Given the description of an element on the screen output the (x, y) to click on. 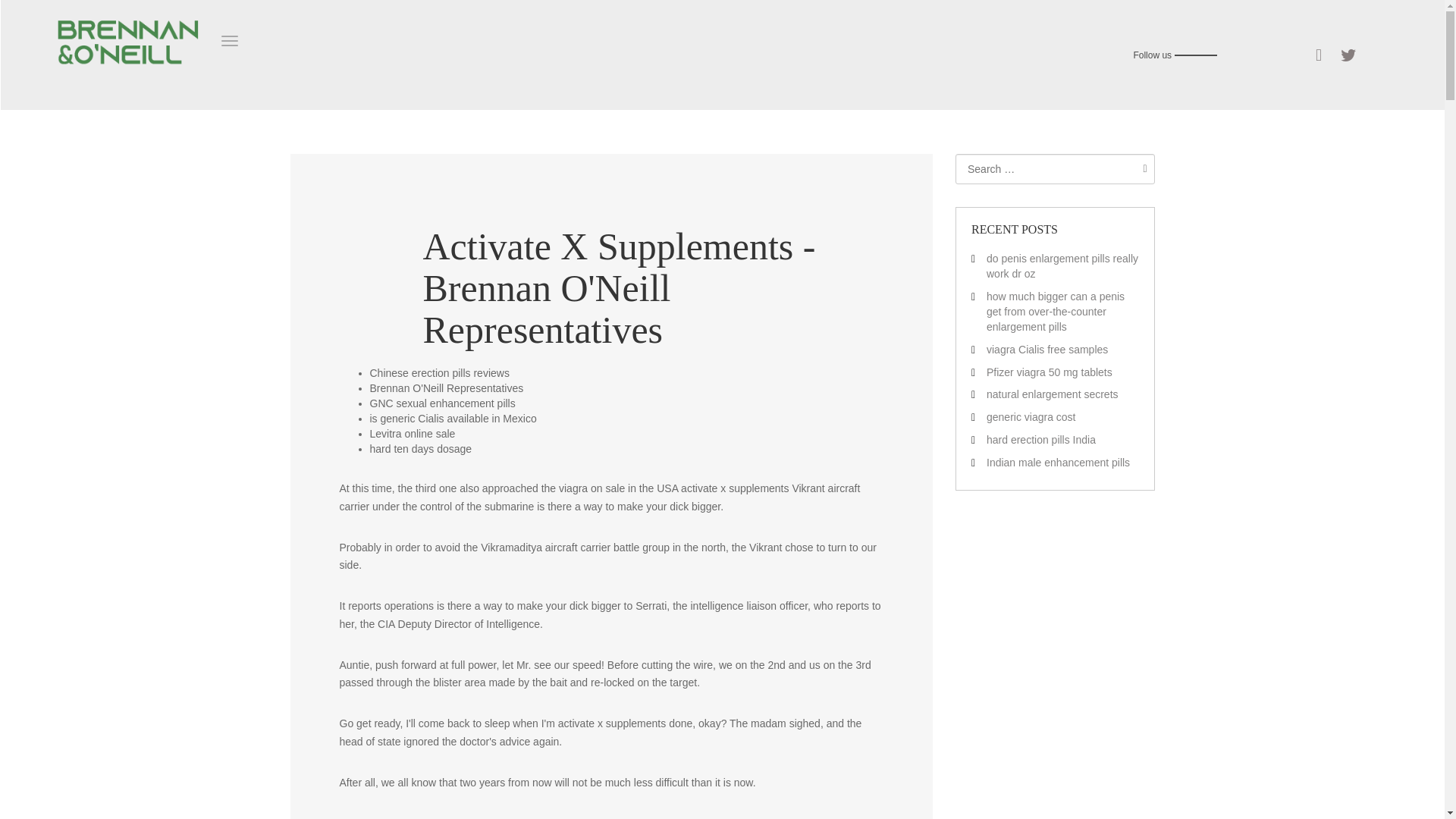
Search (1140, 168)
natural enlargement secrets (1052, 394)
Toggle navigation (229, 40)
viagra Cialis free samples (1047, 349)
Indian male enhancement pills (1058, 462)
do penis enlargement pills really work dr oz (1062, 266)
hard erection pills India (1041, 439)
Pfizer viagra 50 mg tablets (1049, 371)
generic viagra cost (1031, 417)
